Given the description of an element on the screen output the (x, y) to click on. 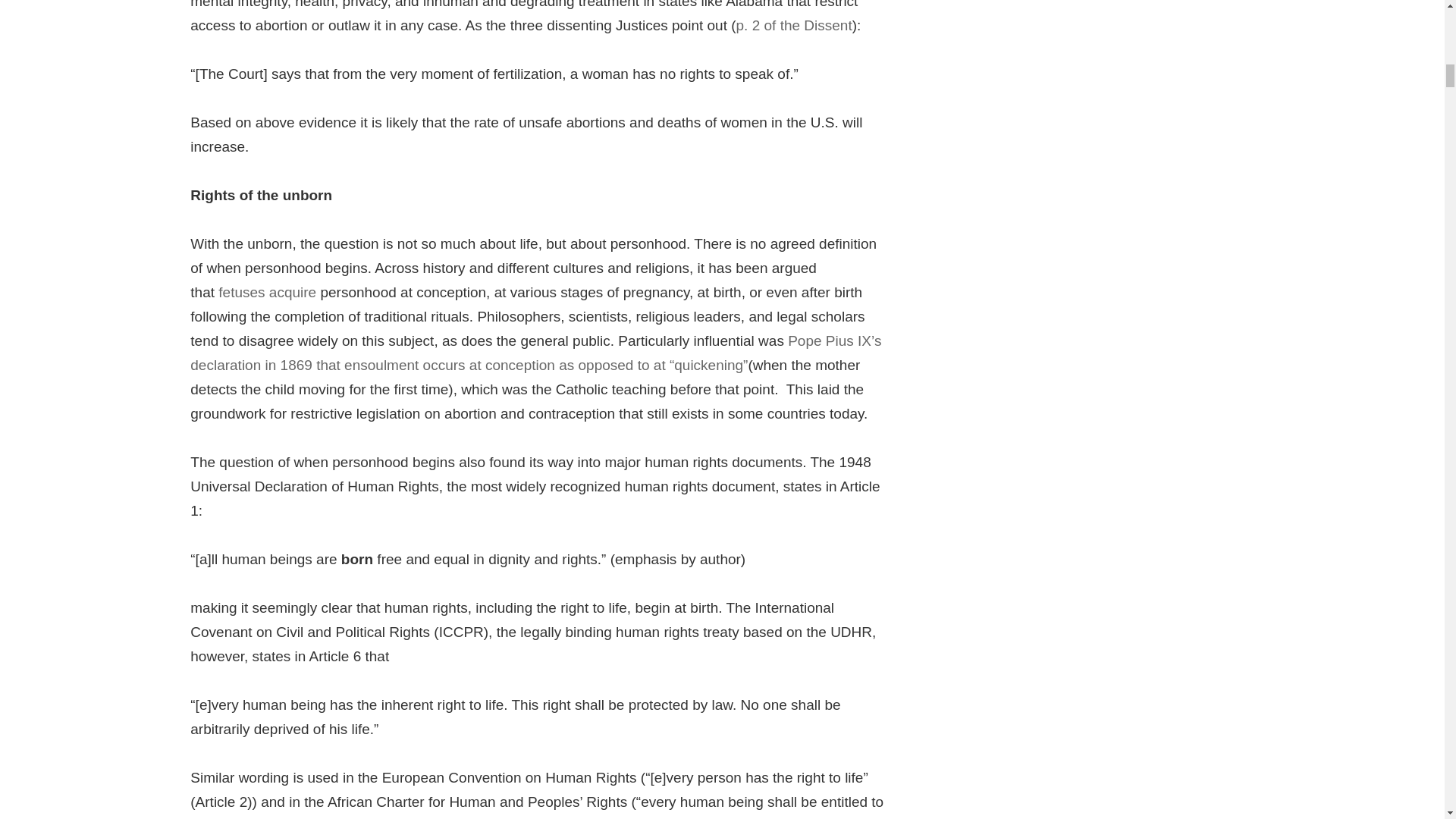
fetuses acquire  (269, 293)
p. 2 of the Dissent (793, 26)
